Given the description of an element on the screen output the (x, y) to click on. 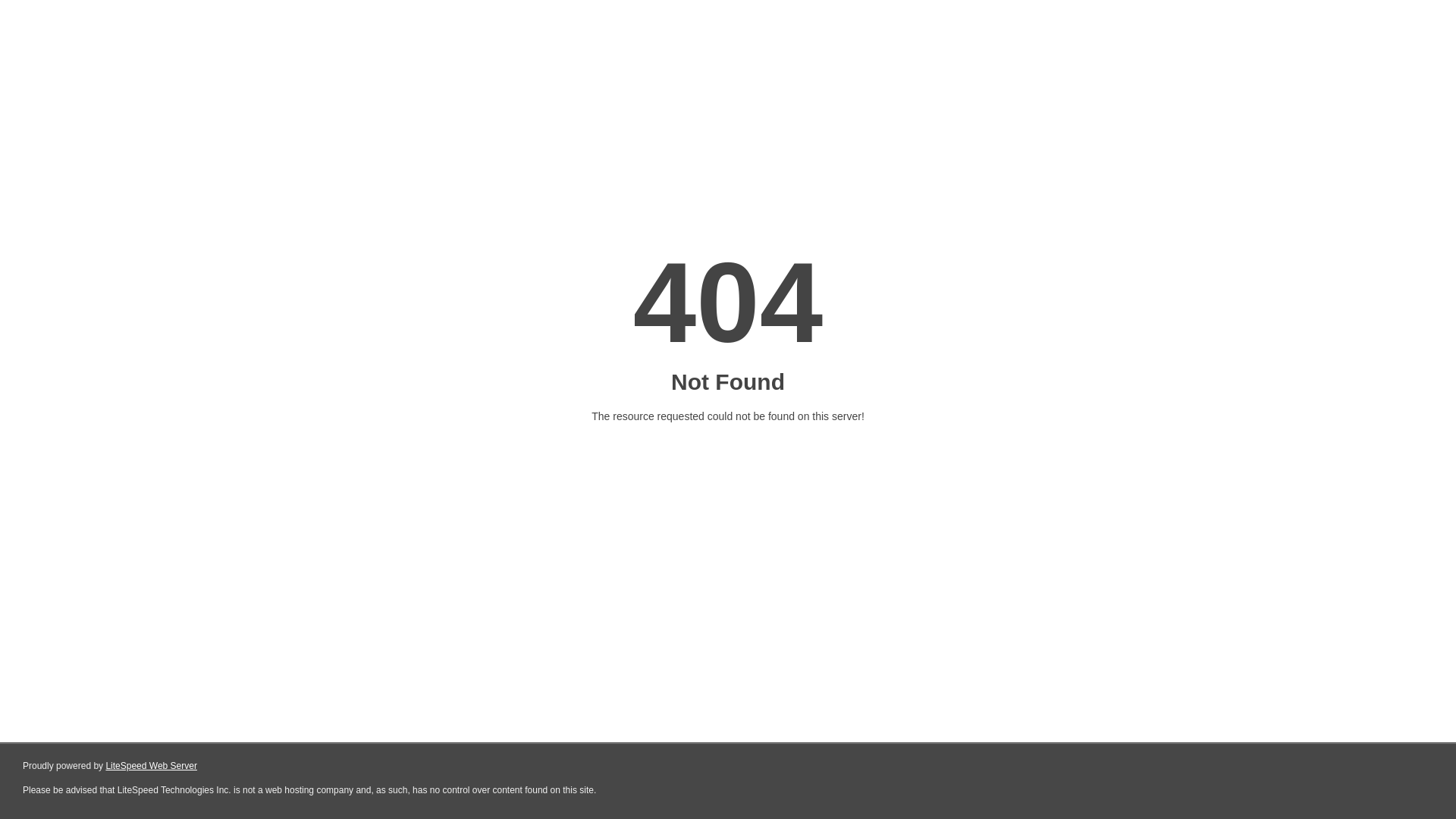
LiteSpeed Web Server Element type: text (151, 765)
